Given the description of an element on the screen output the (x, y) to click on. 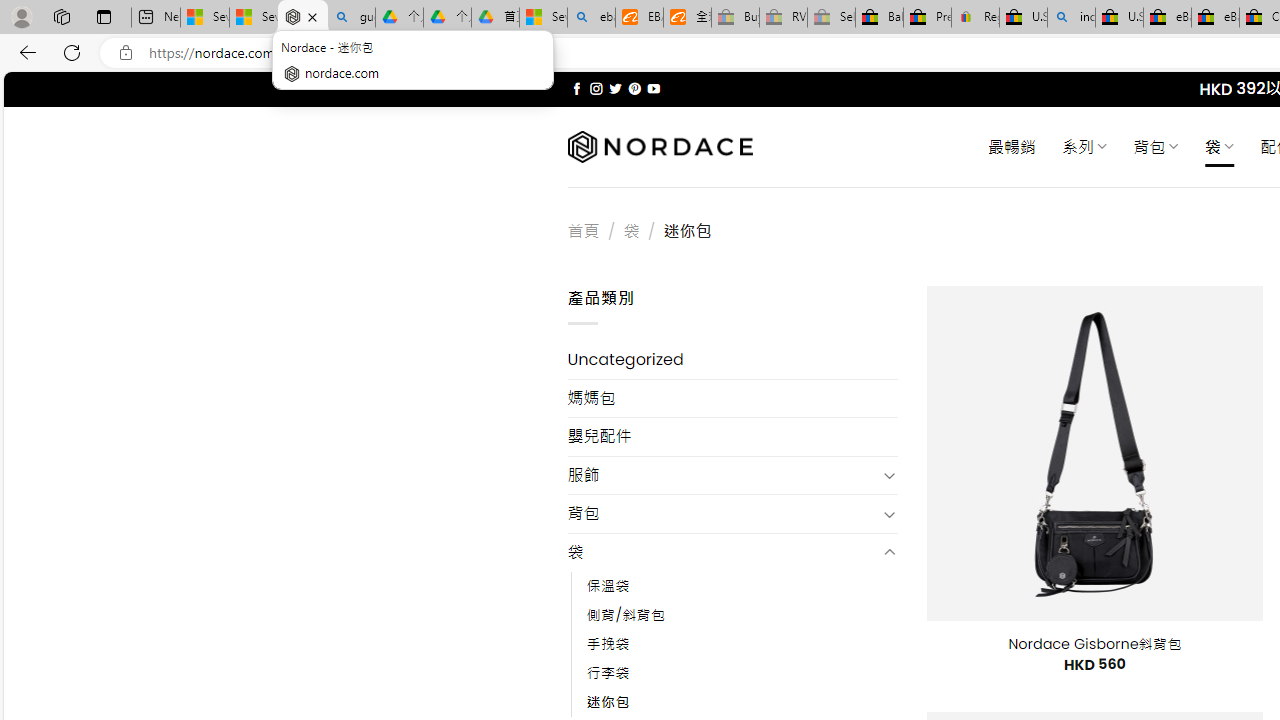
Register: Create a personal eBay account (975, 17)
guge yunpan - Search (351, 17)
Uncategorized (732, 359)
U.S. State Privacy Disclosures - eBay Inc. (1119, 17)
